Given the description of an element on the screen output the (x, y) to click on. 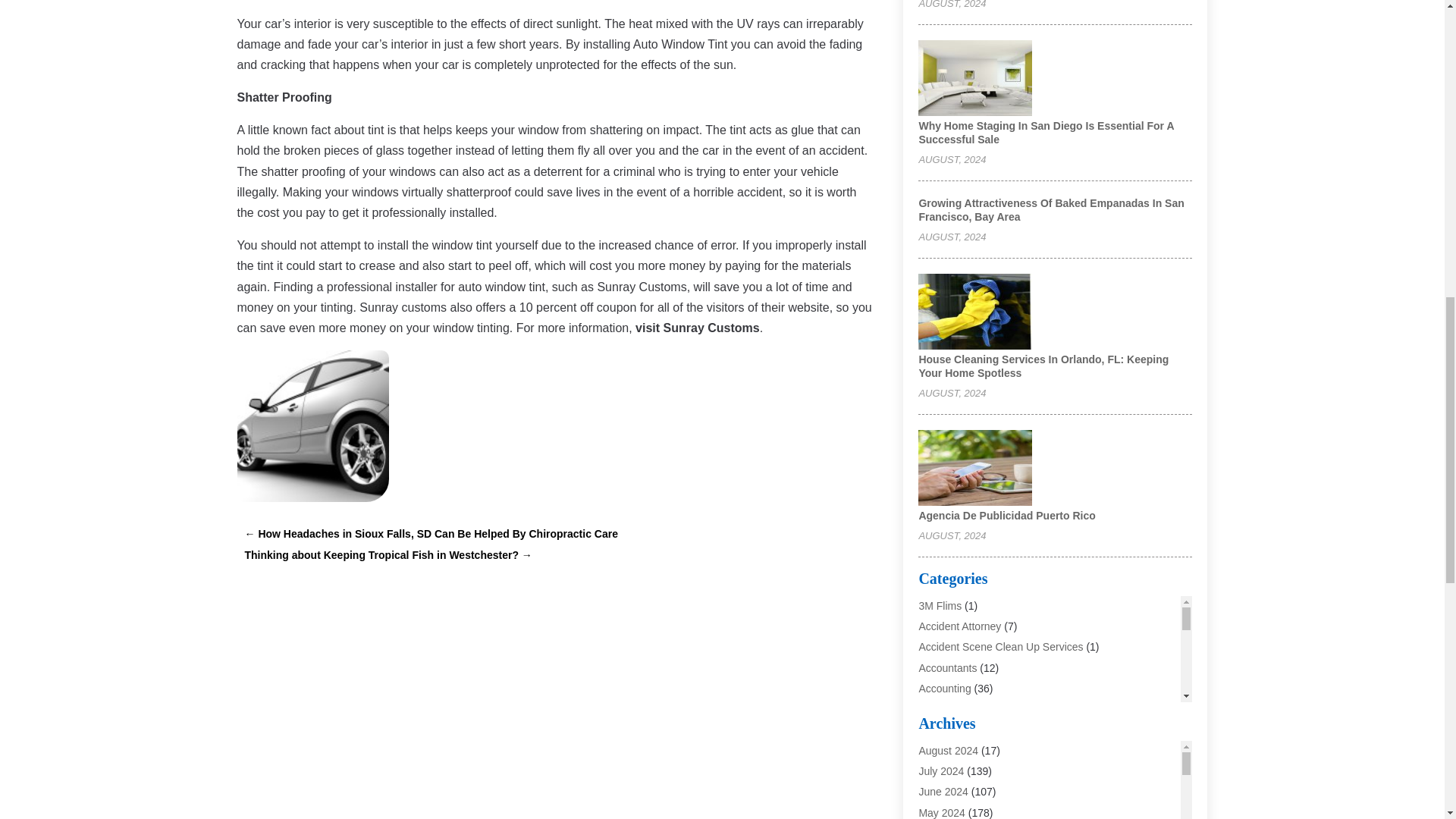
Accountants (947, 667)
Addiction Treatment Center (982, 729)
Accounting (944, 688)
Adoption (938, 749)
3M Flims (939, 605)
Agencia De Publicidad Puerto Rico (1006, 515)
Accounting Services (966, 708)
